Given the description of an element on the screen output the (x, y) to click on. 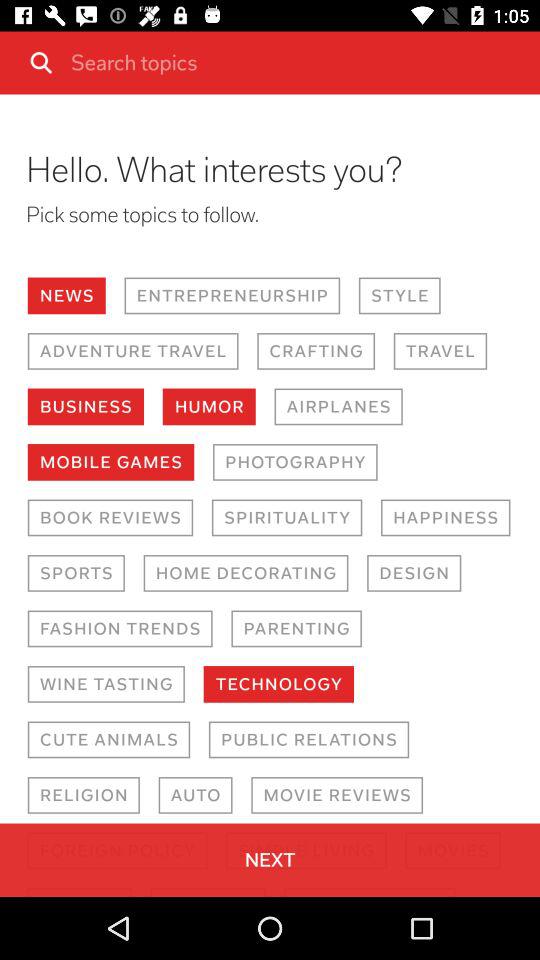
turn off the icon to the right of the science item (207, 892)
